Given the description of an element on the screen output the (x, y) to click on. 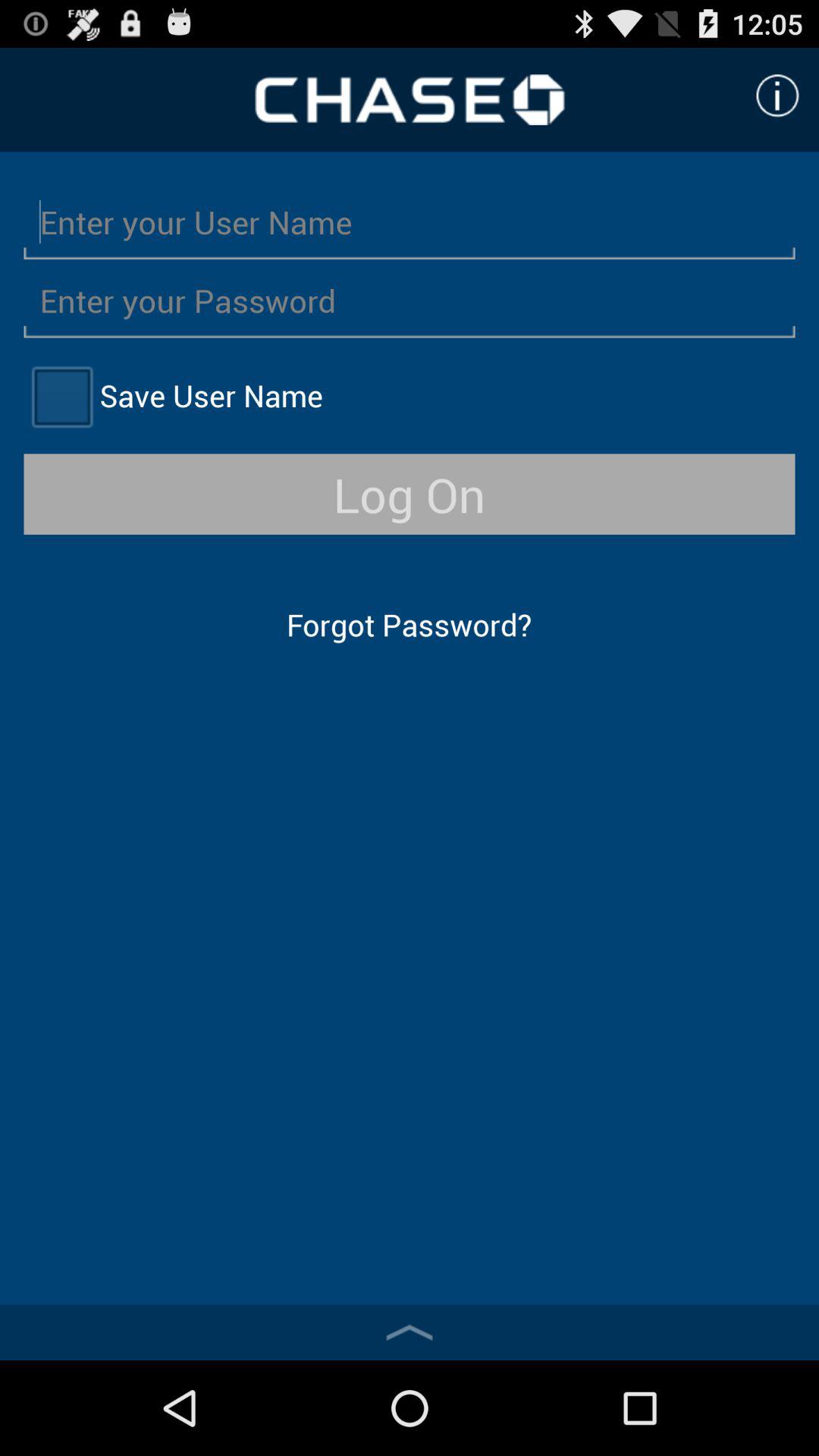
press the forgot password? (408, 624)
